Given the description of an element on the screen output the (x, y) to click on. 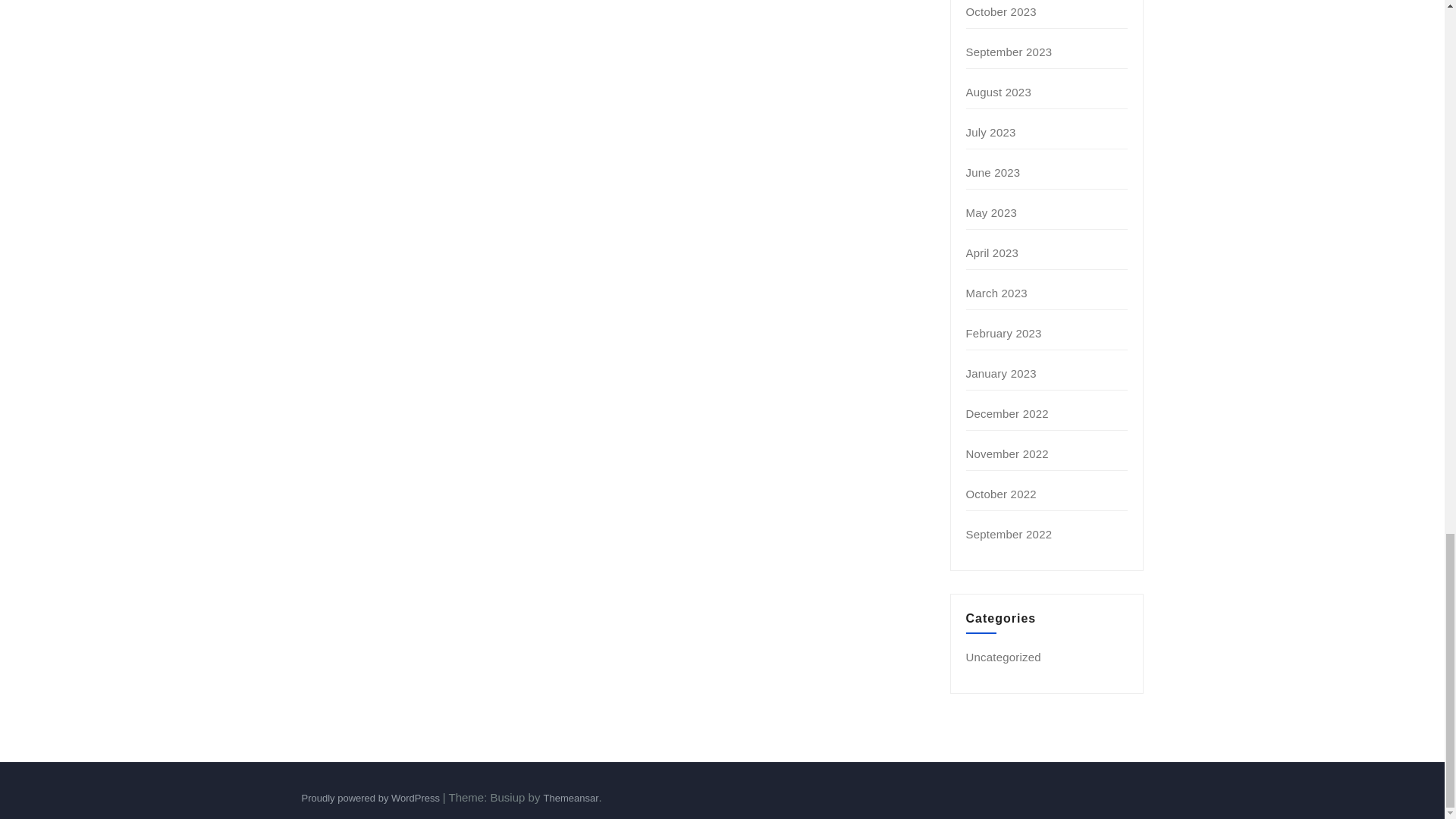
October 2023 (1001, 11)
September 2023 (1009, 51)
August 2023 (998, 91)
